Given the description of an element on the screen output the (x, y) to click on. 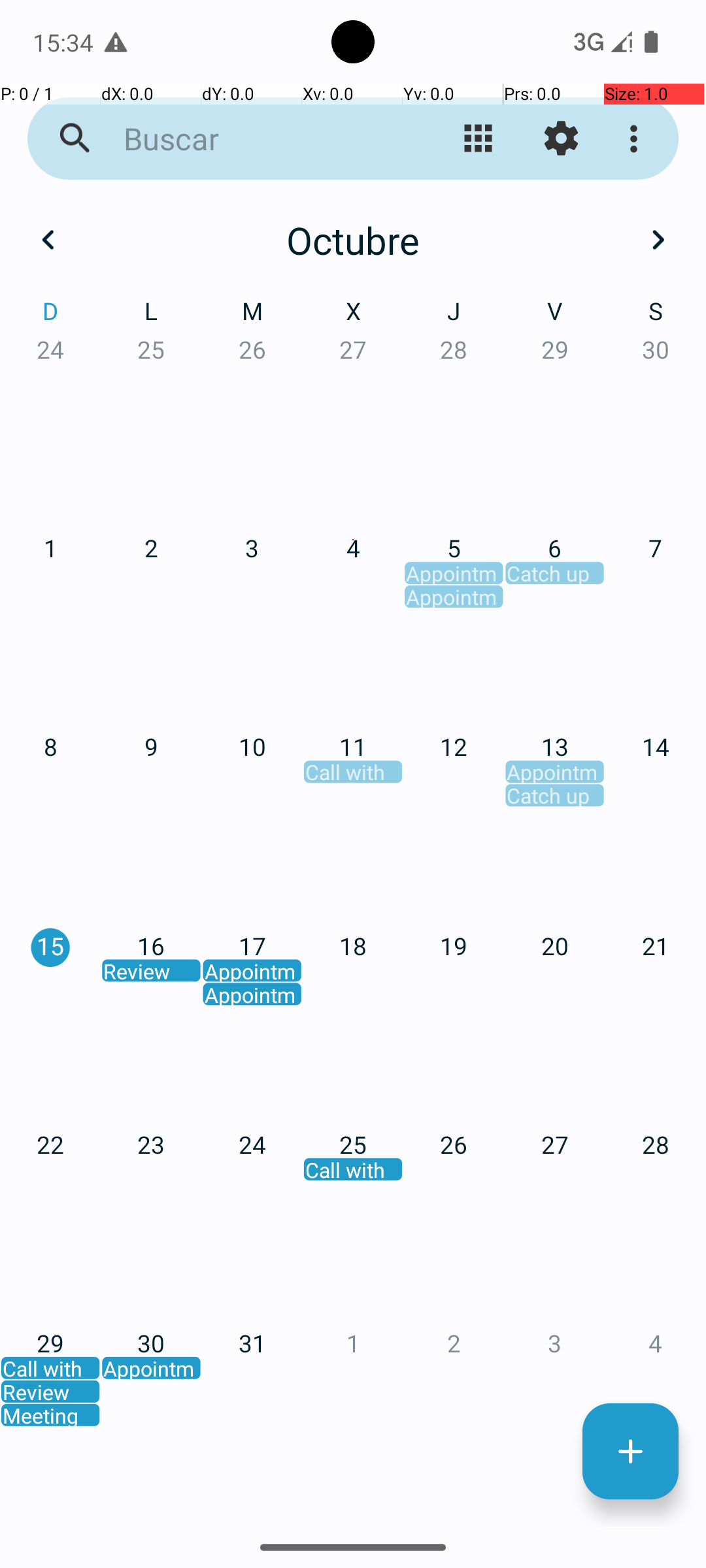
Buscar Element type: android.widget.EditText (252, 138)
Cambiar vista Element type: android.widget.Button (477, 138)
Ajustes Element type: android.widget.Button (560, 138)
Más opciones Element type: android.widget.ImageView (636, 138)
Nuevo evento Element type: android.widget.ImageButton (630, 1451)
Octubre Element type: android.widget.TextView (352, 239)
